Given the description of an element on the screen output the (x, y) to click on. 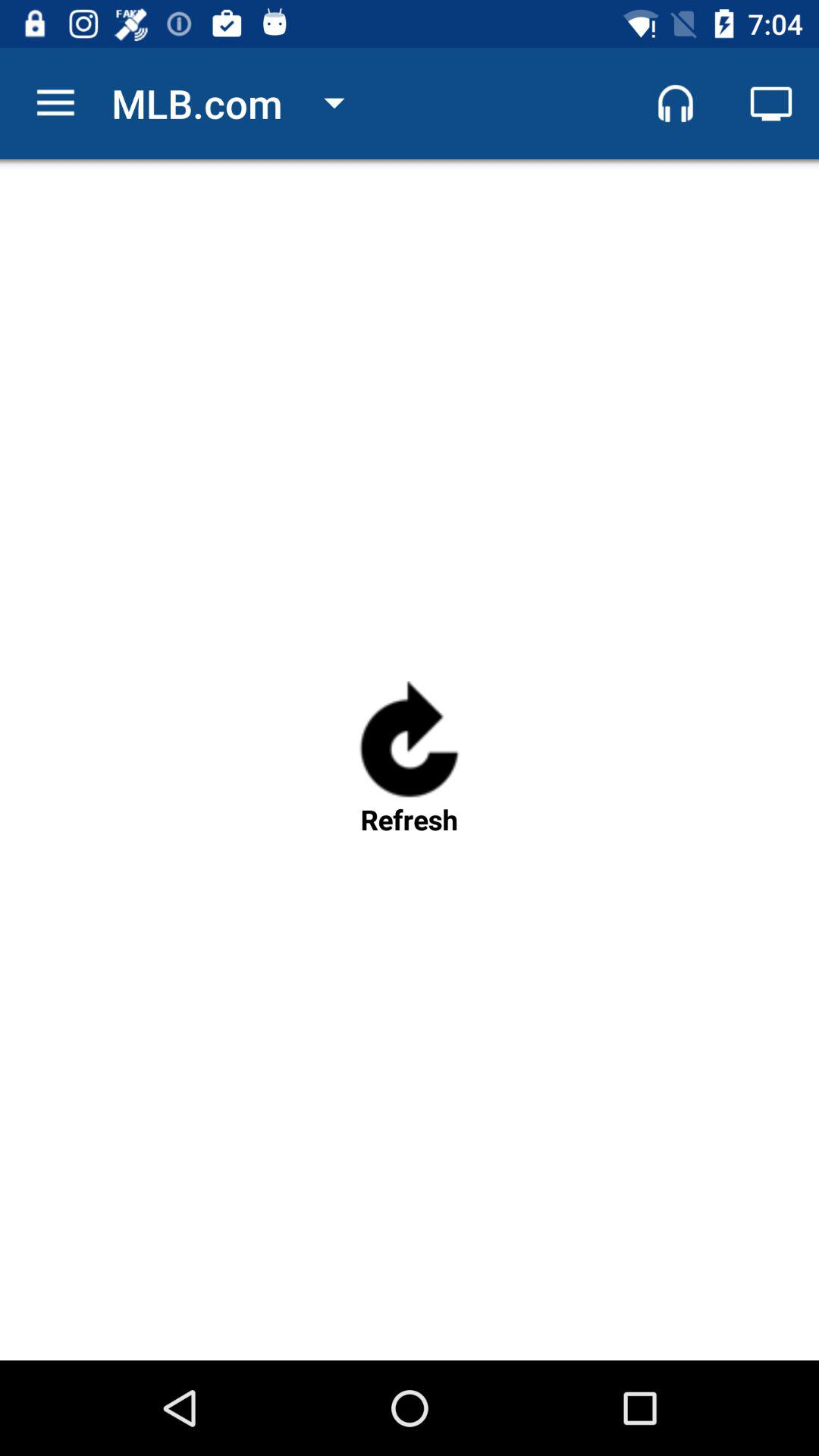
open item next to the mlb.com item (55, 103)
